Given the description of an element on the screen output the (x, y) to click on. 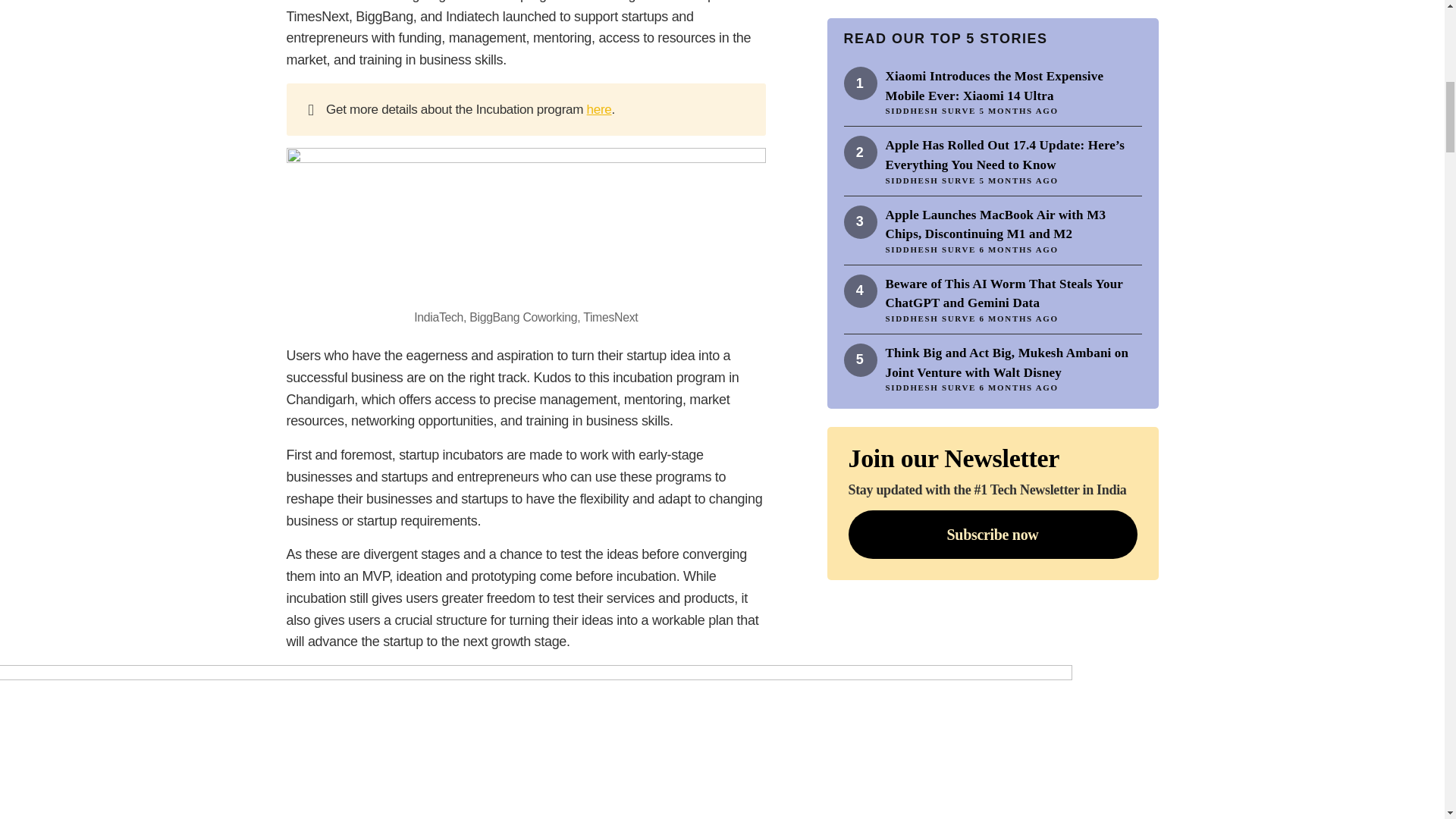
SIDDHESH SURVE (930, 201)
Subscribe now (992, 347)
SIDDHESH SURVE (930, 132)
here (598, 109)
SIDDHESH SURVE (930, 62)
